Given the description of an element on the screen output the (x, y) to click on. 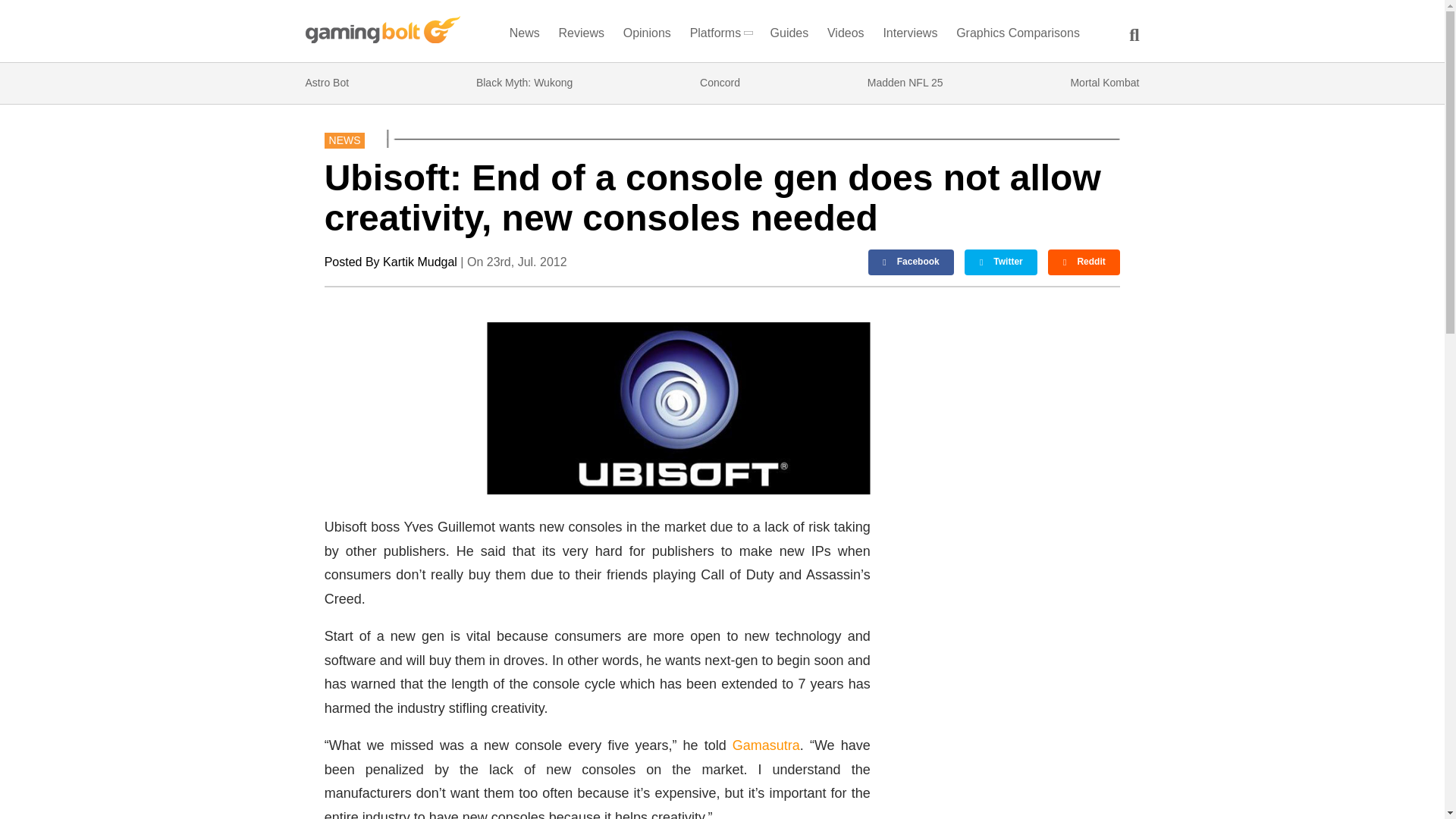
News (524, 36)
Kartik Mudgal (419, 261)
Interviews (909, 36)
Mortal Kombat (1104, 82)
Astro Bot (326, 82)
Opinions (647, 36)
Concord (719, 82)
Guides (789, 36)
Madden NFL 25 (905, 82)
Twitter (999, 262)
